Given the description of an element on the screen output the (x, y) to click on. 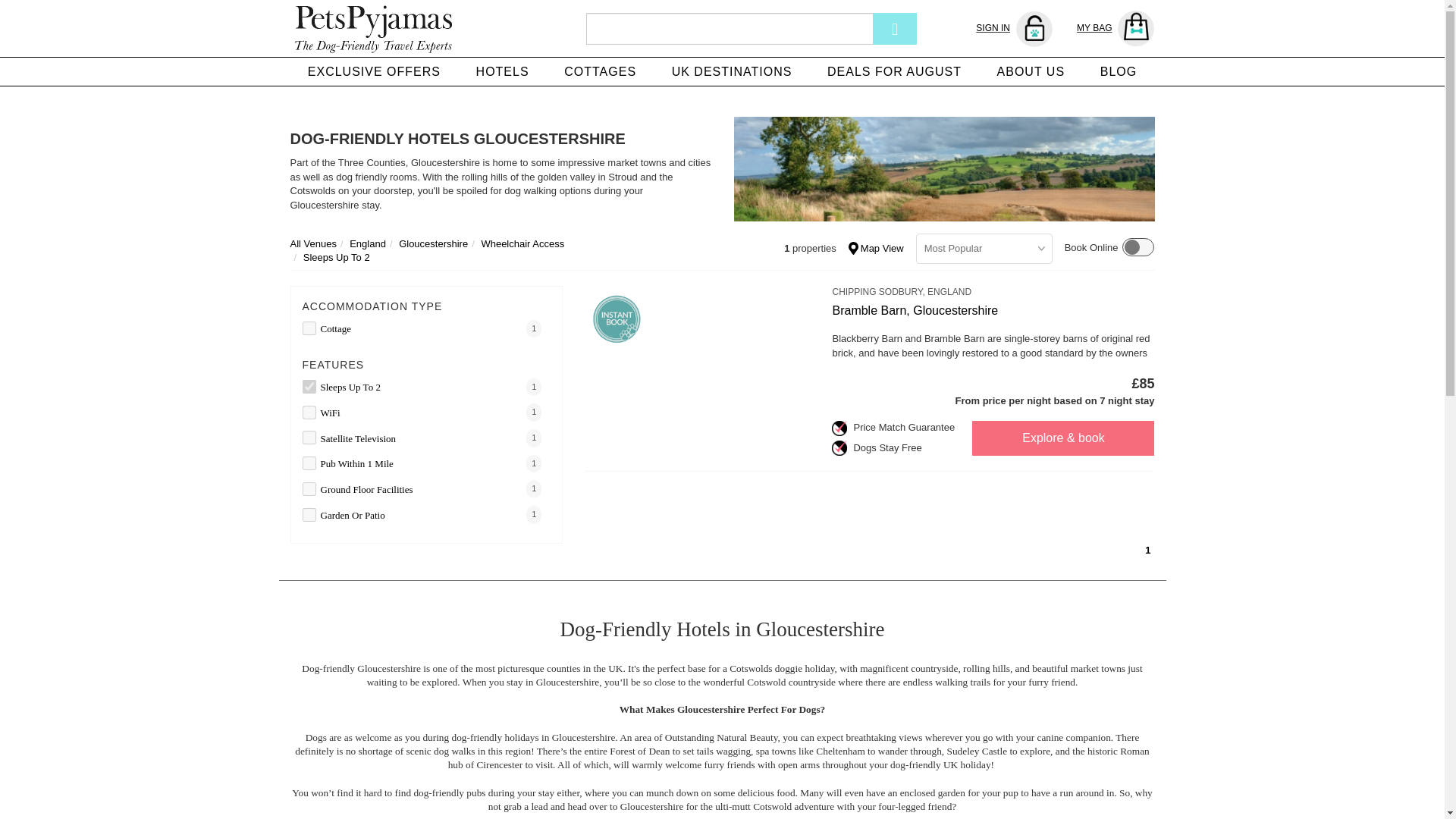
EXCLUSIVE OFFERS (373, 71)
on (308, 327)
on (308, 386)
on (308, 489)
HOTELS (502, 71)
on (308, 514)
on (308, 463)
MY BAG (1115, 28)
on (308, 437)
